Given the description of an element on the screen output the (x, y) to click on. 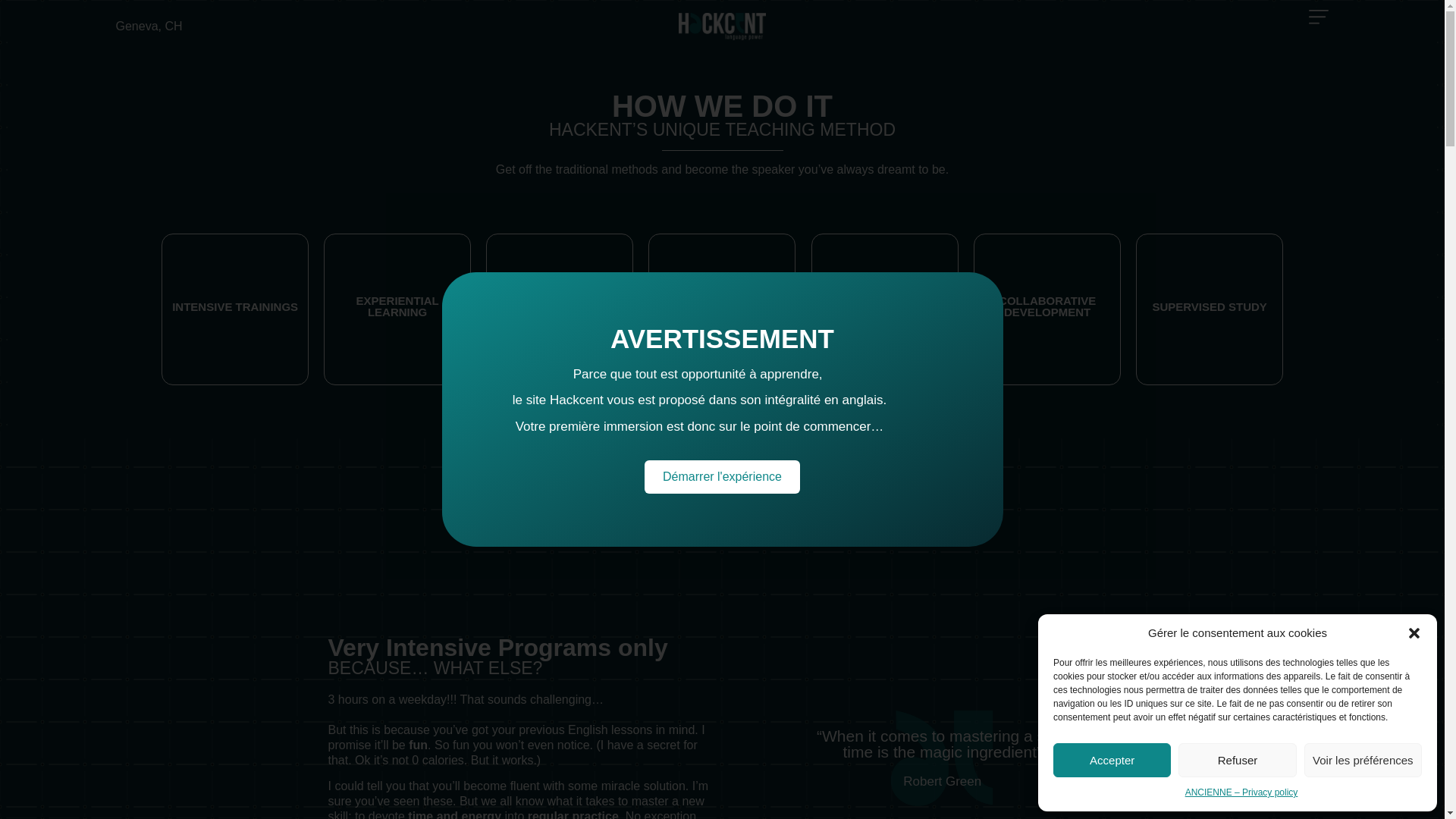
More (1048, 288)
More (1211, 287)
Refuser (1236, 759)
More (562, 283)
More (724, 282)
More (886, 281)
More (237, 291)
More (400, 284)
Accepter (1111, 759)
